Given the description of an element on the screen output the (x, y) to click on. 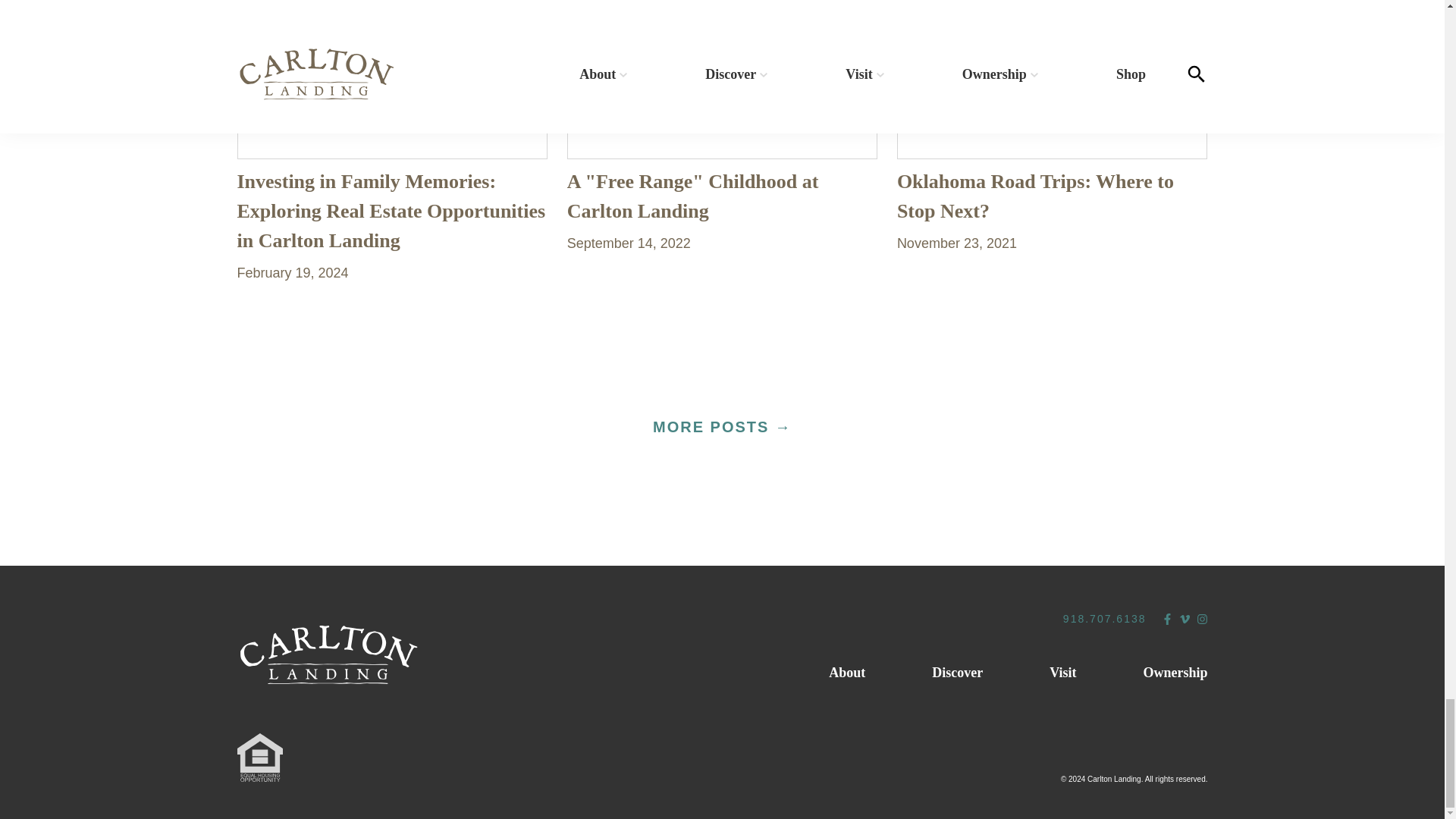
About (846, 672)
Discover (956, 672)
Oklahoma Road Trips: Where to Stop Next? (1034, 195)
Vimeo (1183, 618)
MORE POSTS (722, 427)
Facebook (1167, 618)
Ownership (1174, 672)
Carlton Landing (327, 654)
A "Free Range" Childhood at Carlton Landing (692, 195)
